Given the description of an element on the screen output the (x, y) to click on. 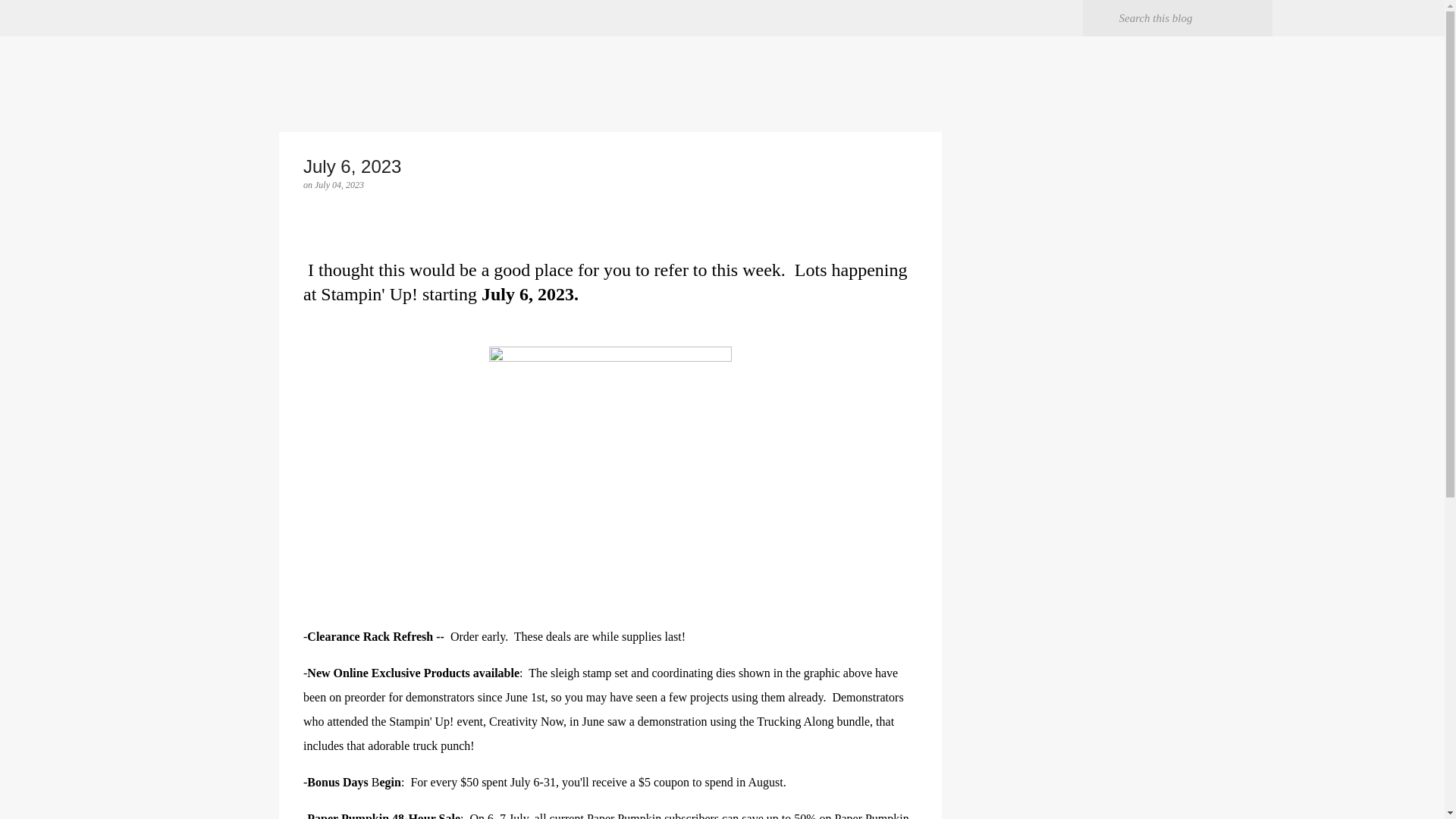
permanent link (339, 184)
July 04, 2023 (339, 184)
